Given the description of an element on the screen output the (x, y) to click on. 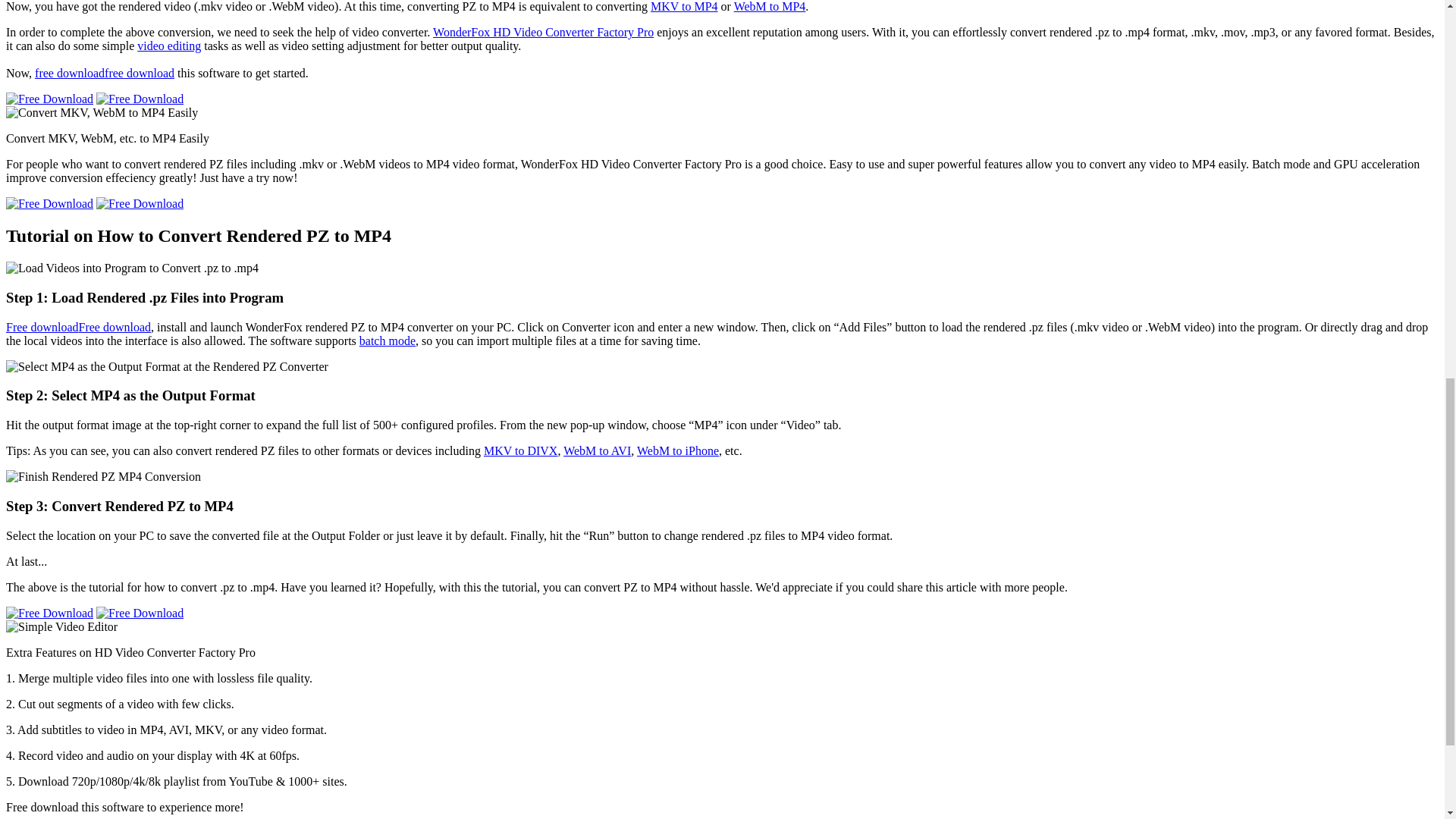
Free download (114, 327)
MKV to DIVX (520, 450)
WonderFox HD Video Converter Factory Pro (542, 31)
batch mode (386, 340)
WebM to AVI (596, 450)
free download (139, 72)
MKV to MP4 (683, 6)
video editing (168, 45)
free download (69, 72)
WebM to iPhone (678, 450)
